Given the description of an element on the screen output the (x, y) to click on. 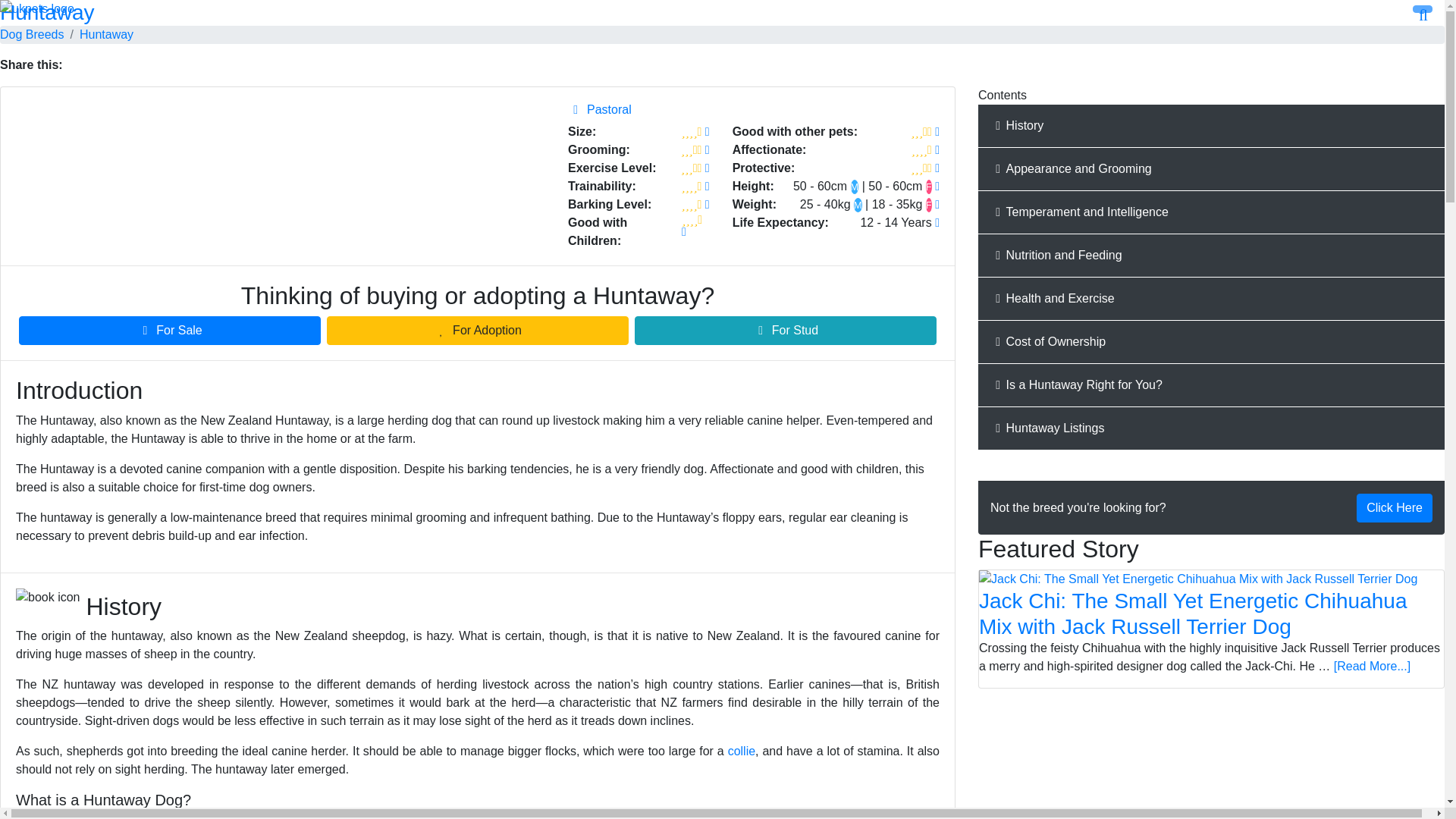
UKPets Header (722, 9)
Dog Breeds (32, 33)
Huntaway (106, 33)
Facebook (97, 65)
Share to a Friend (208, 65)
